Given the description of an element on the screen output the (x, y) to click on. 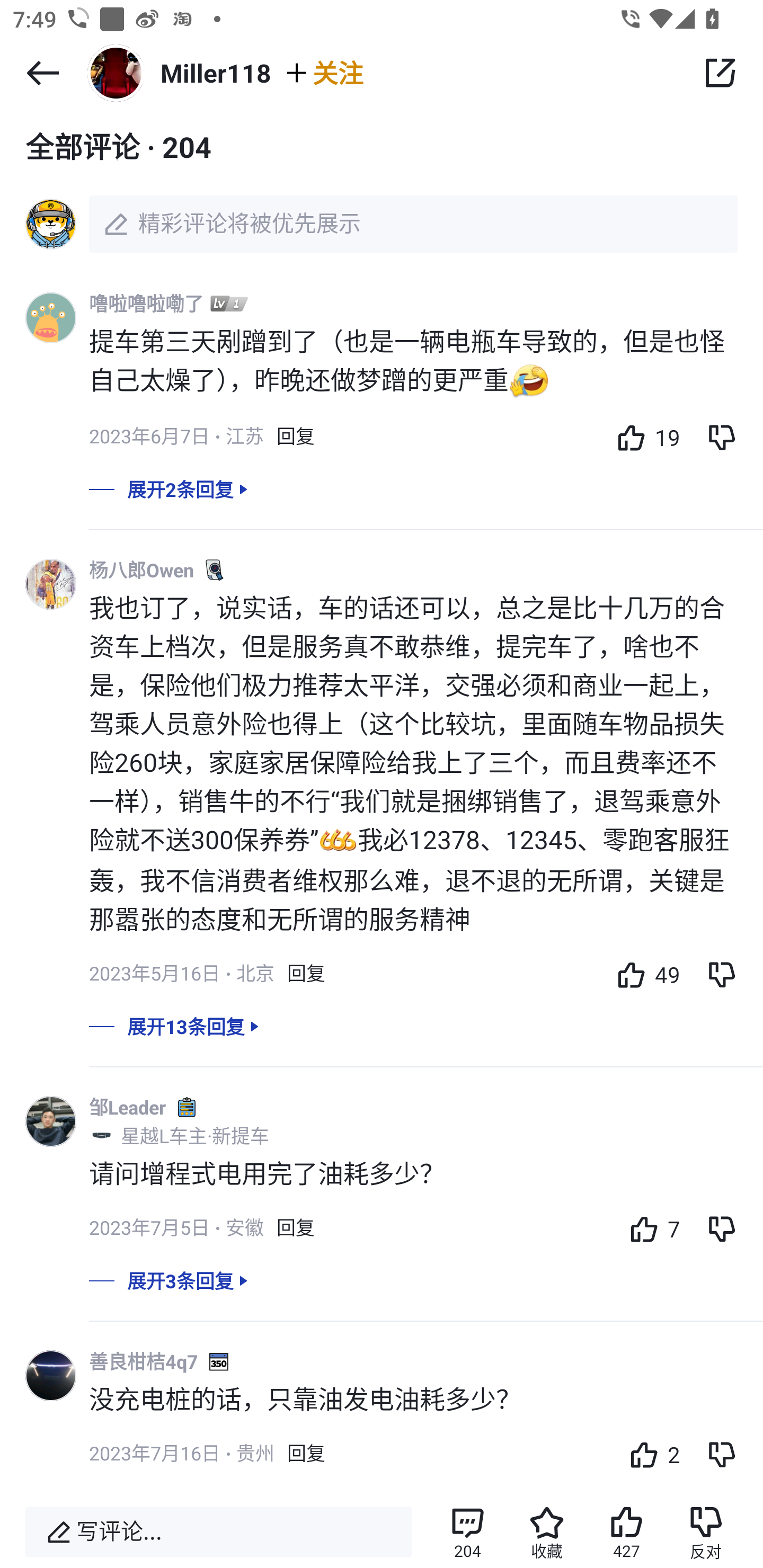
 (42, 72)
 (720, 72)
 关注 (323, 71)
 精彩评论将被优先展示 (381, 224)
噜啦噜啦嘞了 (146, 303)
19 (643, 436)
展开2条回复  (381, 502)
杨八郎Owen (141, 569)
49 (643, 974)
展开13条回复  (381, 1039)
邹Leader (127, 1106)
7 (649, 1228)
展开3条回复  (381, 1293)
善良柑桔4q7 没充电桩的话，只靠油发电油耗多少？ 2023年7月16日 < >贵州 回复 2 (426, 1419)
善良柑桔4q7 (143, 1360)
2 (649, 1454)
 204 (467, 1531)
收藏 (546, 1531)
427 (625, 1531)
反对 (705, 1531)
 写评论... (218, 1531)
